Given the description of an element on the screen output the (x, y) to click on. 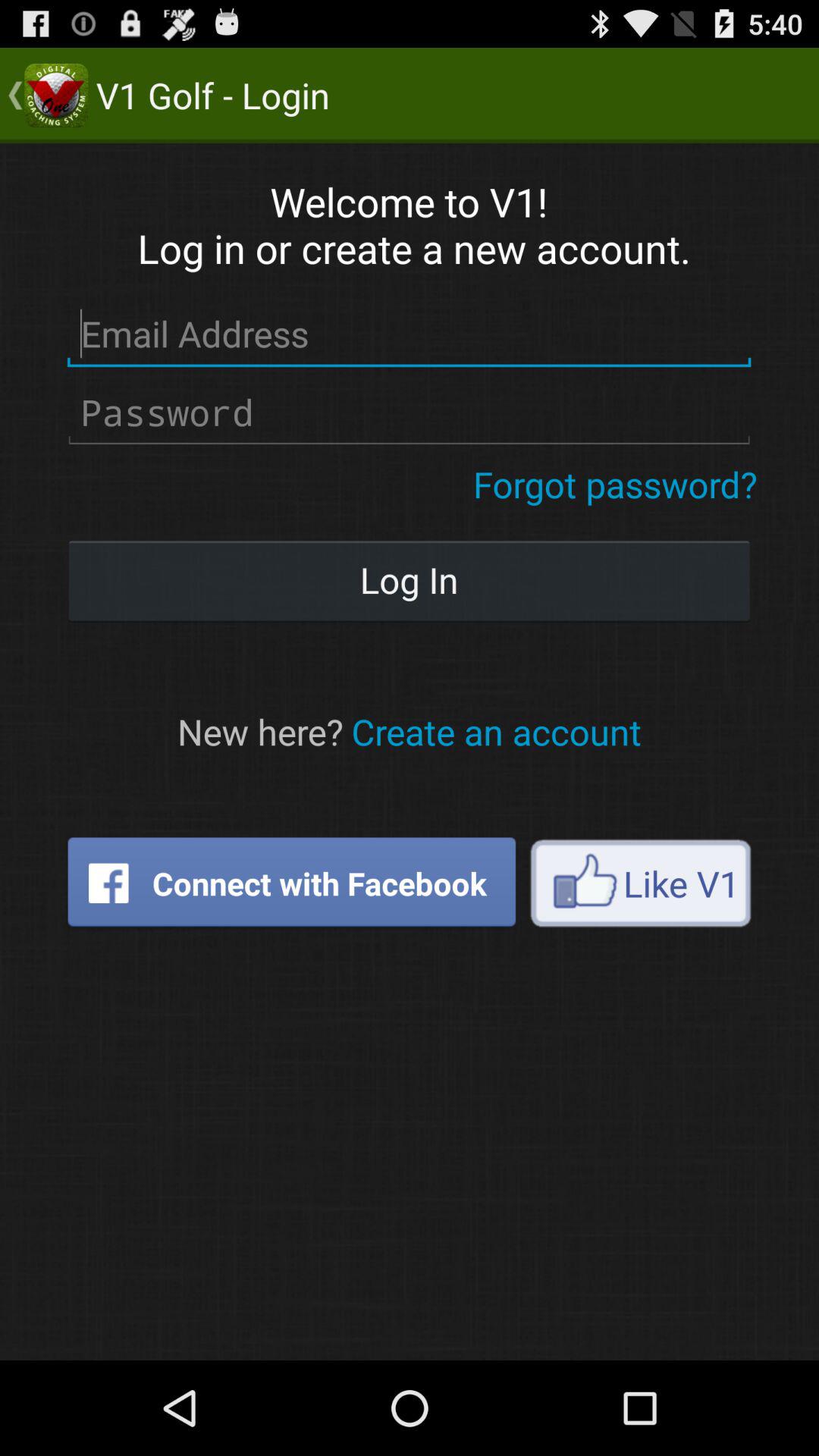
choose the connect with facebook (291, 883)
